Given the description of an element on the screen output the (x, y) to click on. 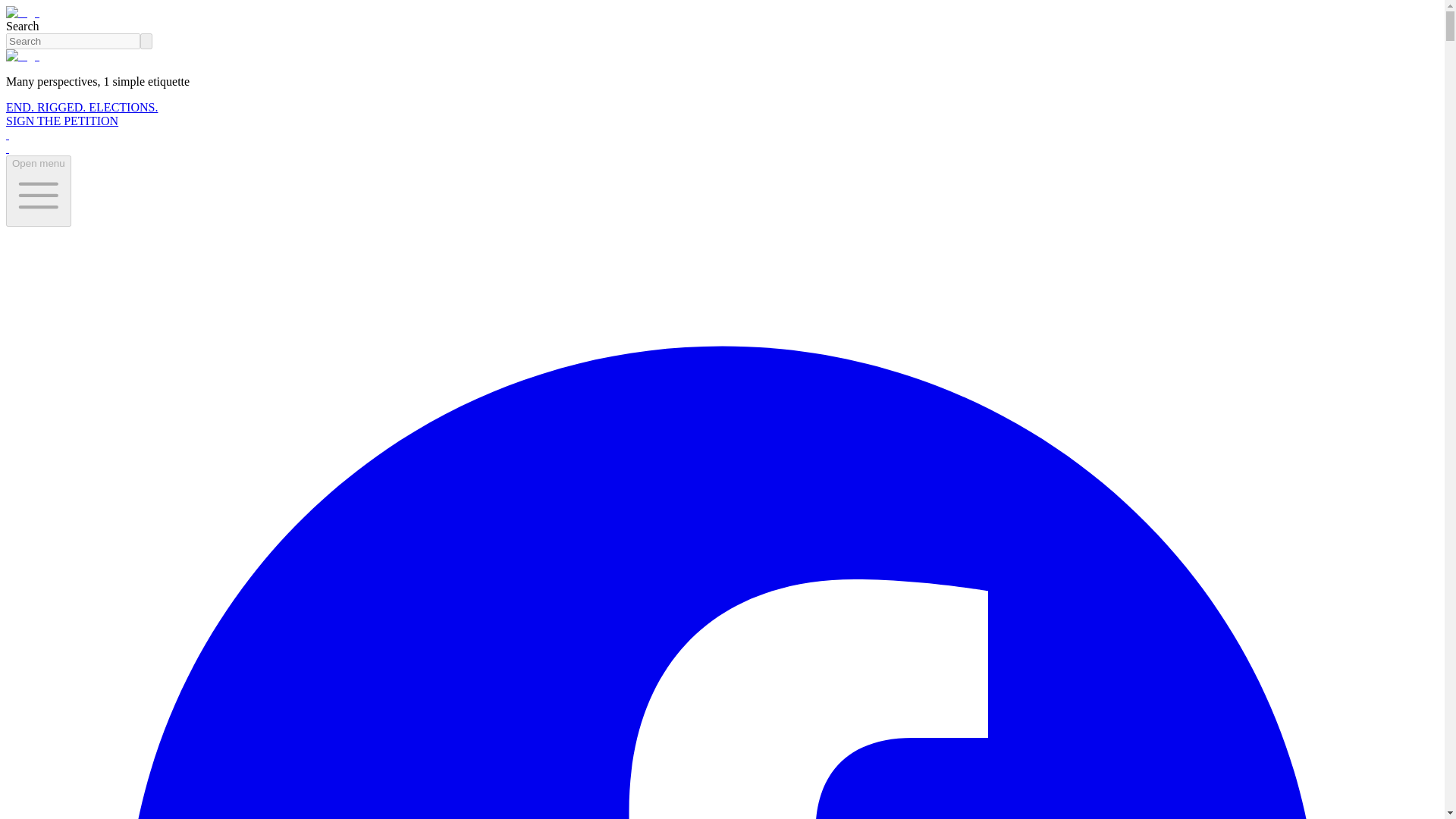
Open menu (38, 190)
